Given the description of an element on the screen output the (x, y) to click on. 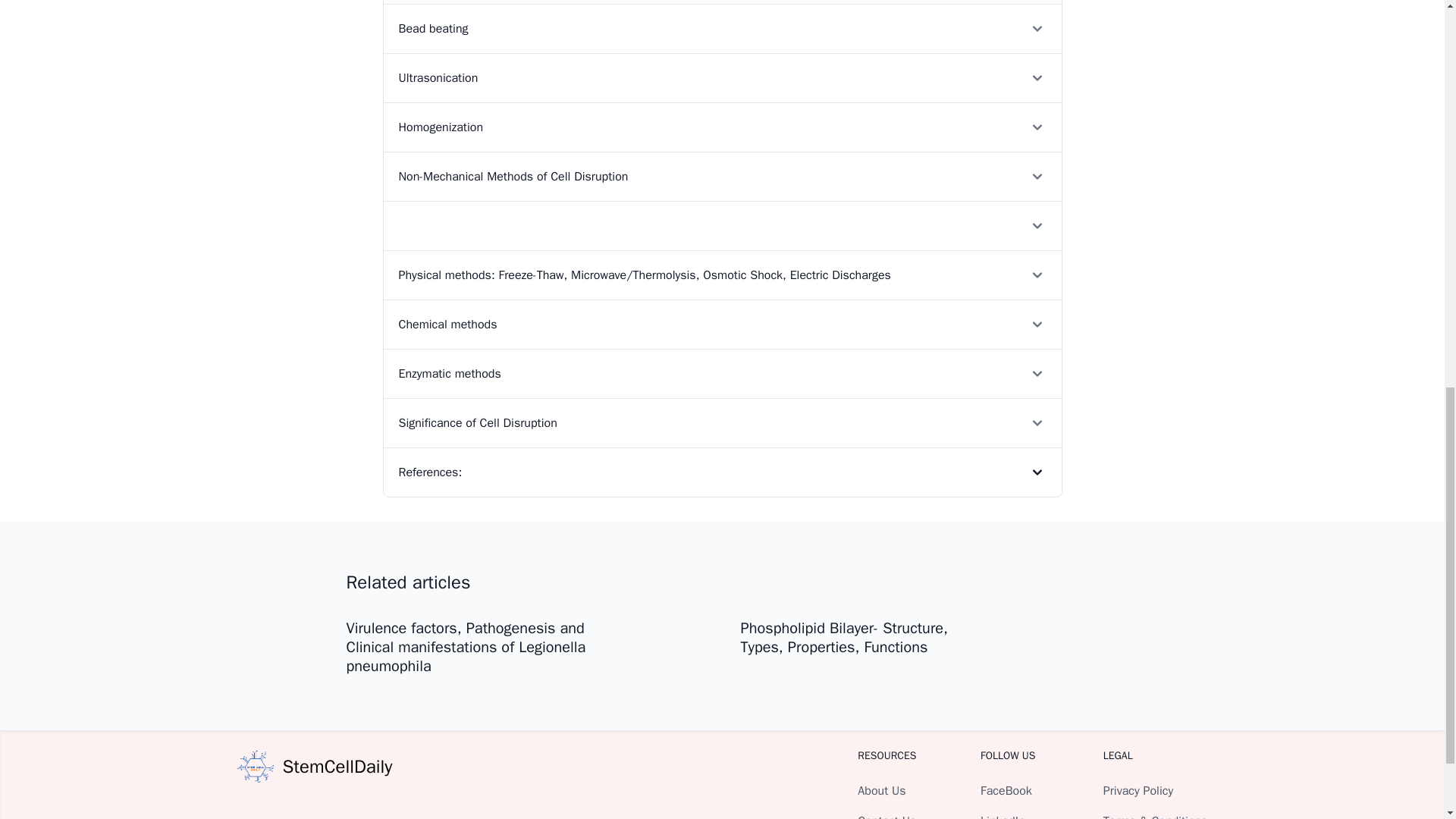
Homogenization (722, 126)
References: (722, 471)
FaceBook (1005, 790)
Bead beating (722, 28)
Privacy Policy (1138, 790)
LinkedIn (1002, 816)
StemCellDaily (313, 766)
Contact Us (886, 816)
Chemical methods (722, 323)
Non-Mechanical Methods of Cell Disruption (722, 175)
Significance of Cell Disruption (722, 422)
About Us (881, 790)
